Given the description of an element on the screen output the (x, y) to click on. 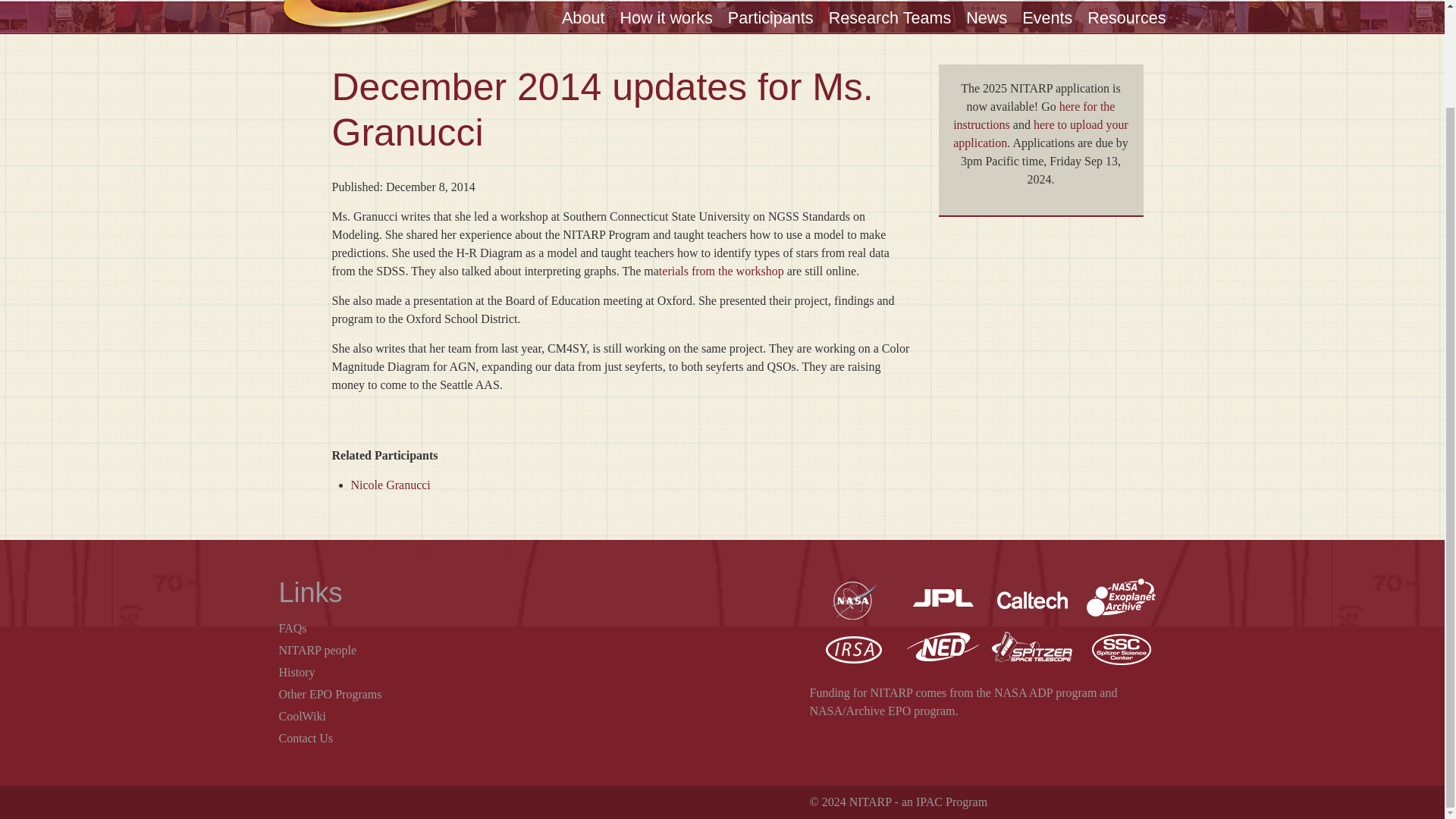
About (583, 17)
Events (1046, 17)
CoolWiki (302, 716)
NITARP people (317, 649)
here to upload your application (1040, 133)
Contact Us (306, 738)
here for the instructions (1034, 115)
Resources (1126, 17)
terials from the workshop (721, 270)
Other EPO Programs (330, 694)
